Given the description of an element on the screen output the (x, y) to click on. 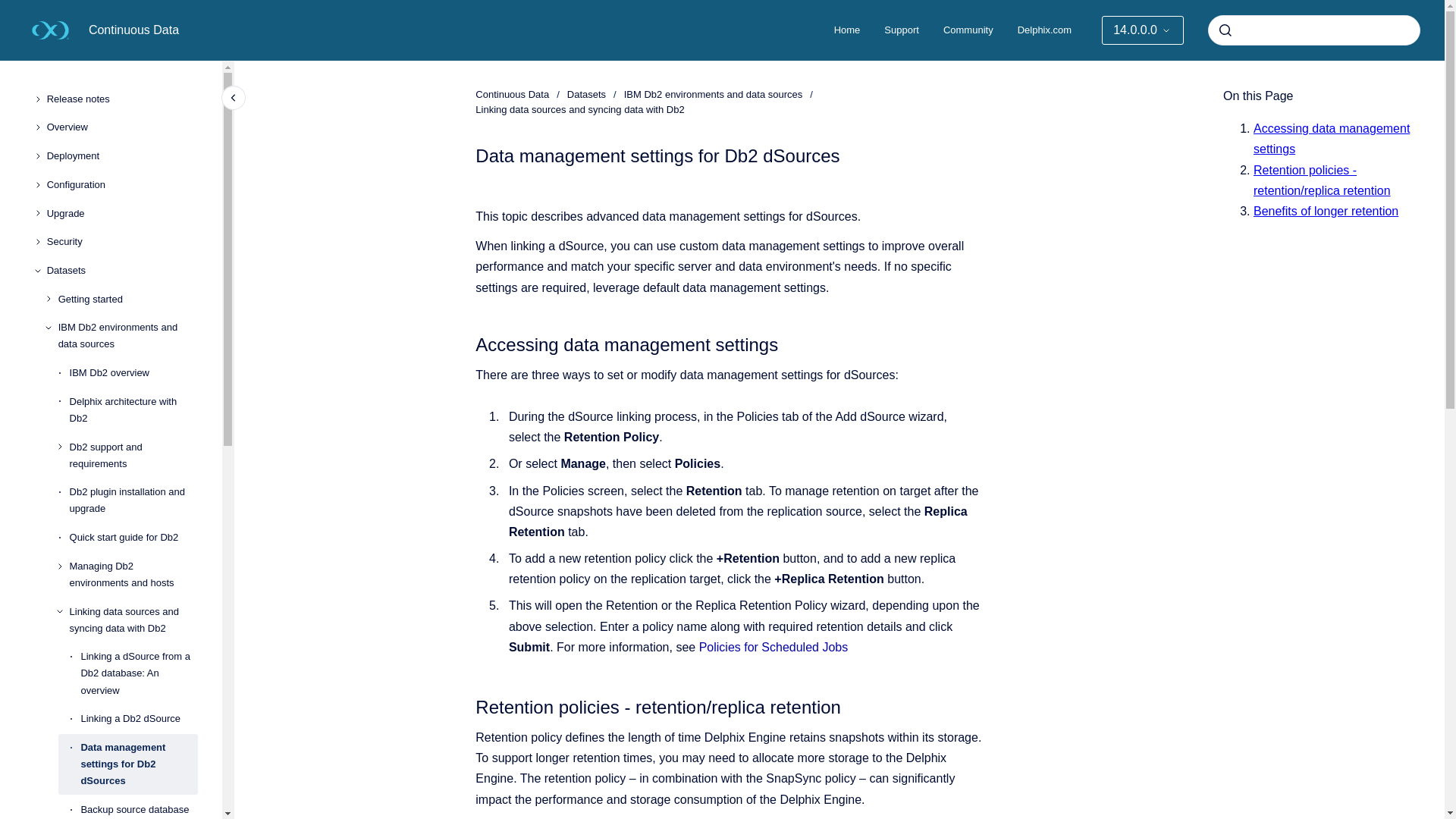
Managing Db2 environments and hosts (133, 574)
Community (968, 29)
IBM Db2 environments and data sources (128, 335)
Datasets (122, 270)
Delphix architecture with Db2 (133, 410)
Overview (122, 127)
Deployment (122, 155)
Support (901, 29)
Getting started (128, 298)
Linking a dSource from a Db2 database: An overview (139, 673)
